Given the description of an element on the screen output the (x, y) to click on. 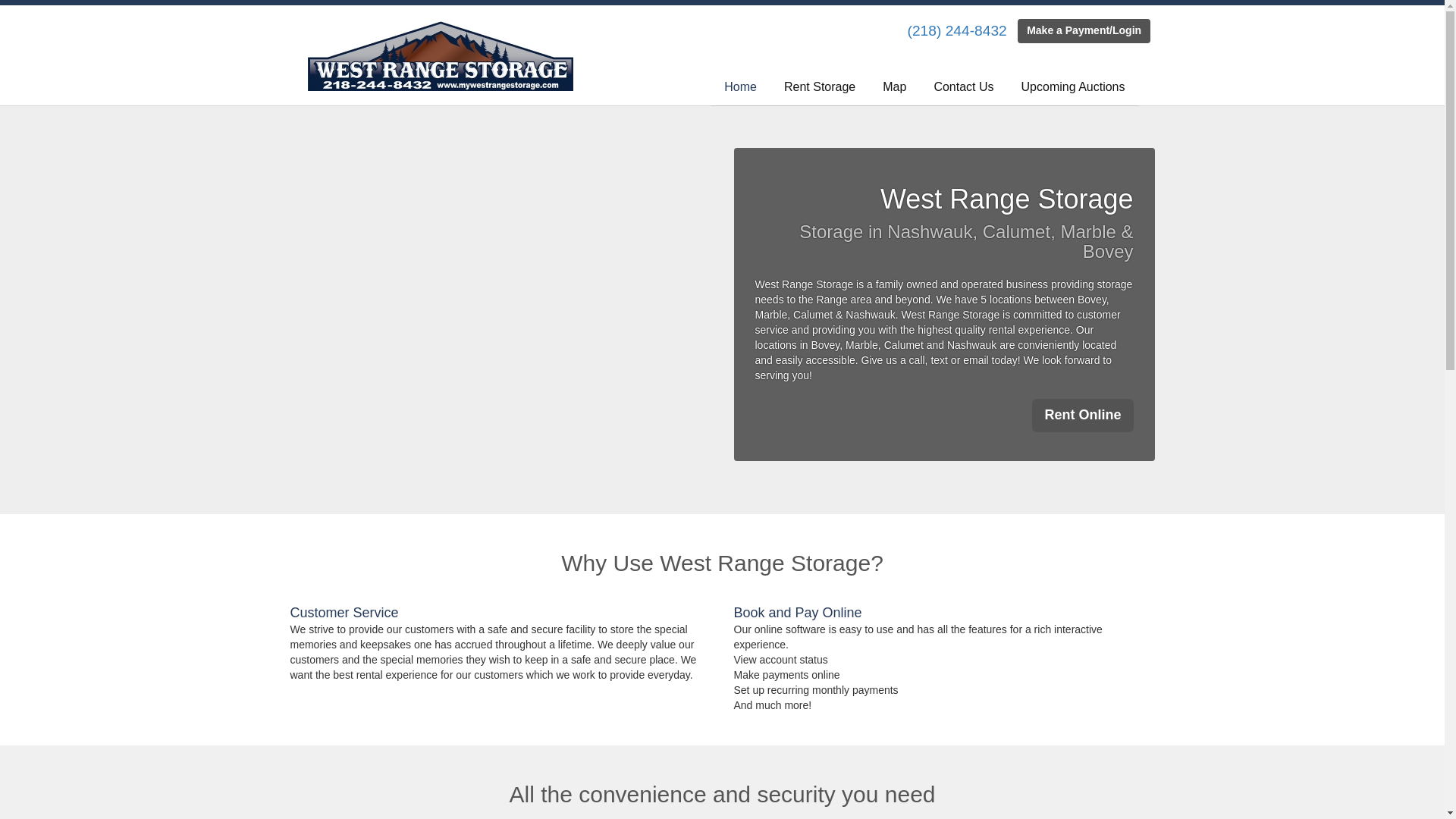
Home (740, 87)
Contact Us (963, 87)
Upcoming Auctions (1072, 87)
Rent Storage (819, 87)
Map (894, 87)
Rent Online (1082, 415)
